Given the description of an element on the screen output the (x, y) to click on. 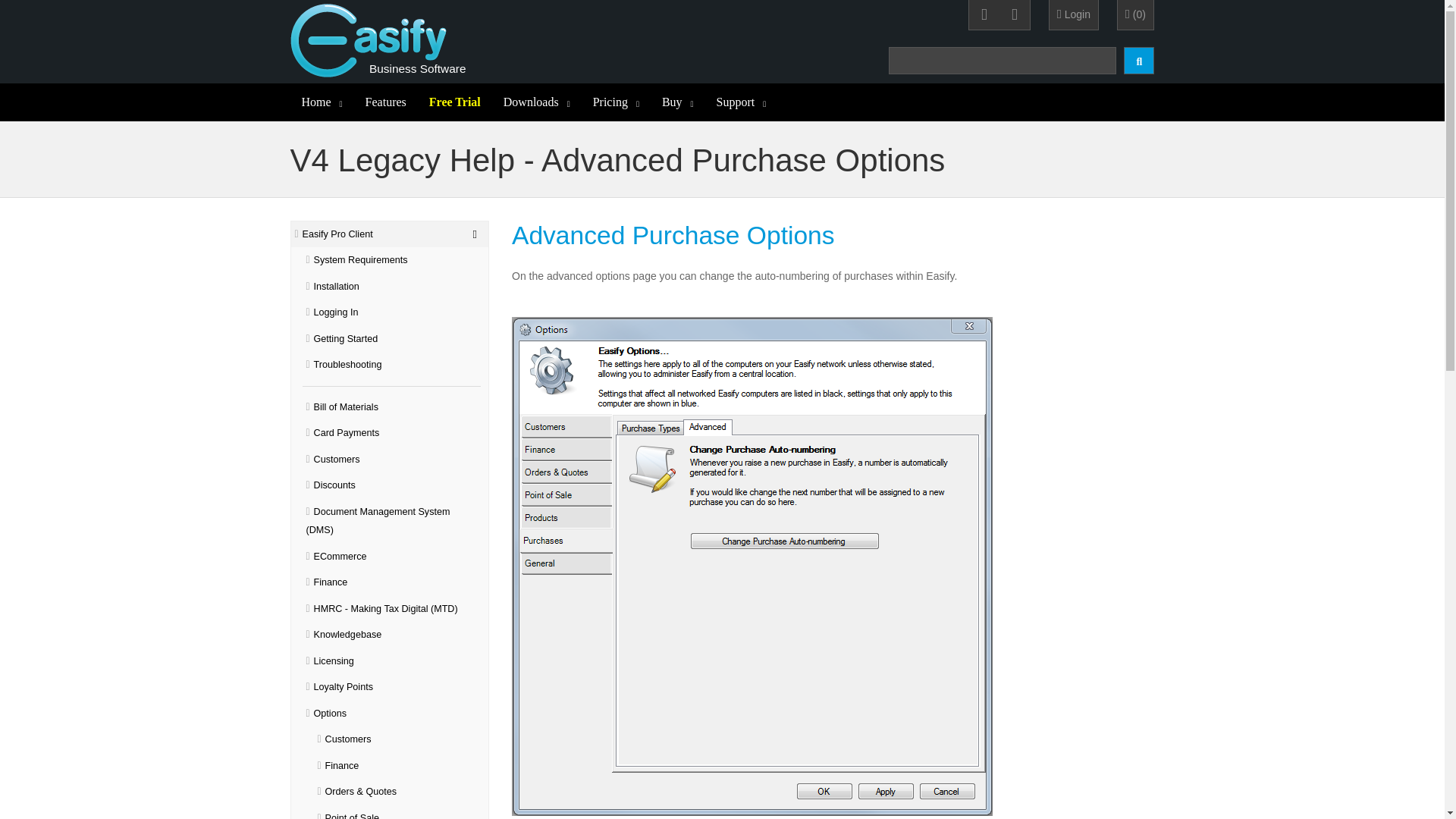
Features (385, 101)
Downloads (536, 101)
Buy (677, 101)
Support (740, 101)
Click to search... (1139, 60)
Pricing (615, 101)
Free Trial (454, 101)
Home (321, 101)
